Given the description of an element on the screen output the (x, y) to click on. 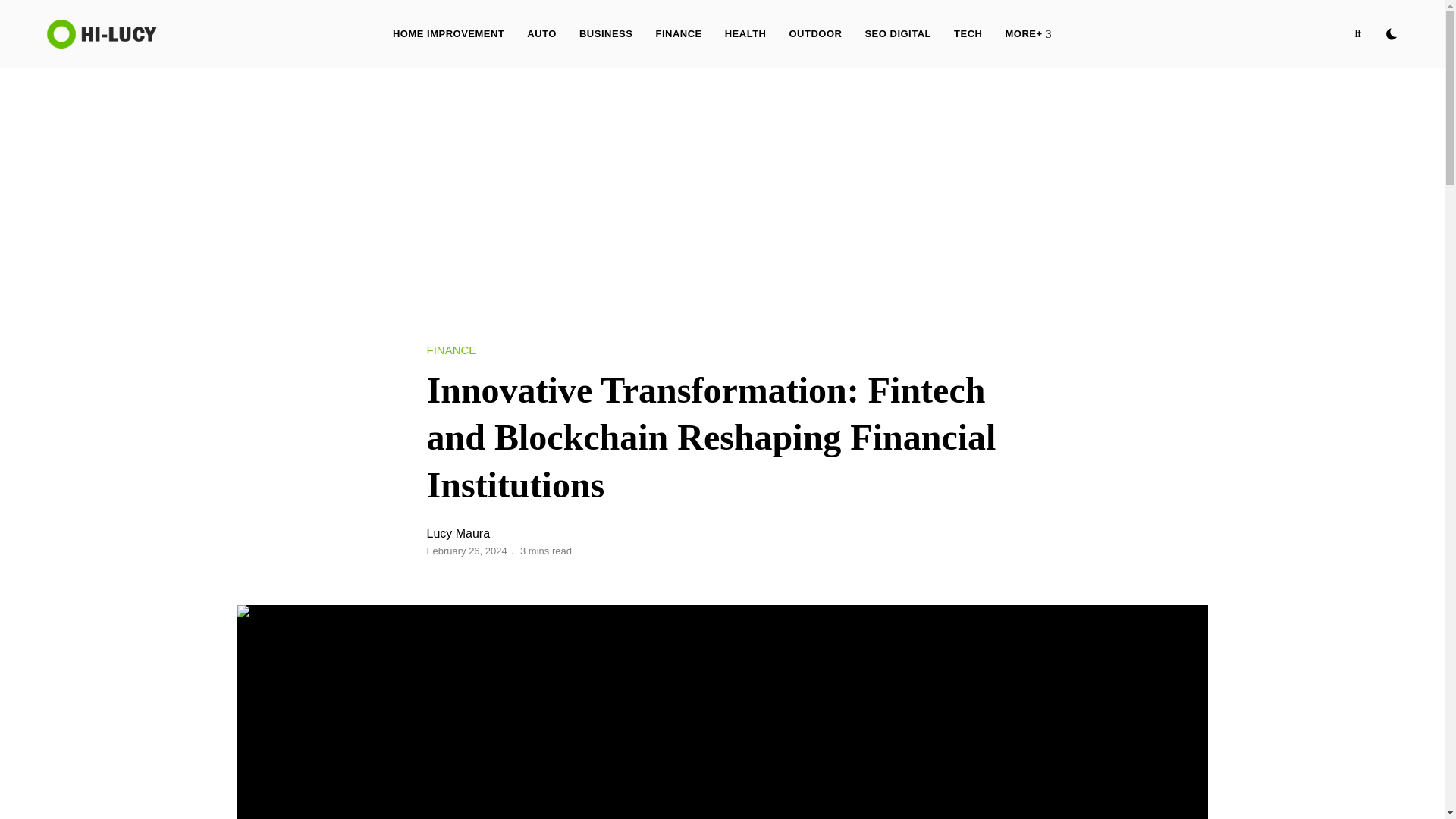
FINANCE (678, 33)
FINANCE (451, 350)
BUSINESS (605, 33)
HOME IMPROVEMENT (448, 33)
SEO DIGITAL (897, 33)
OUTDOOR (815, 33)
HEALTH (745, 33)
Lucy Maura (457, 533)
